Given the description of an element on the screen output the (x, y) to click on. 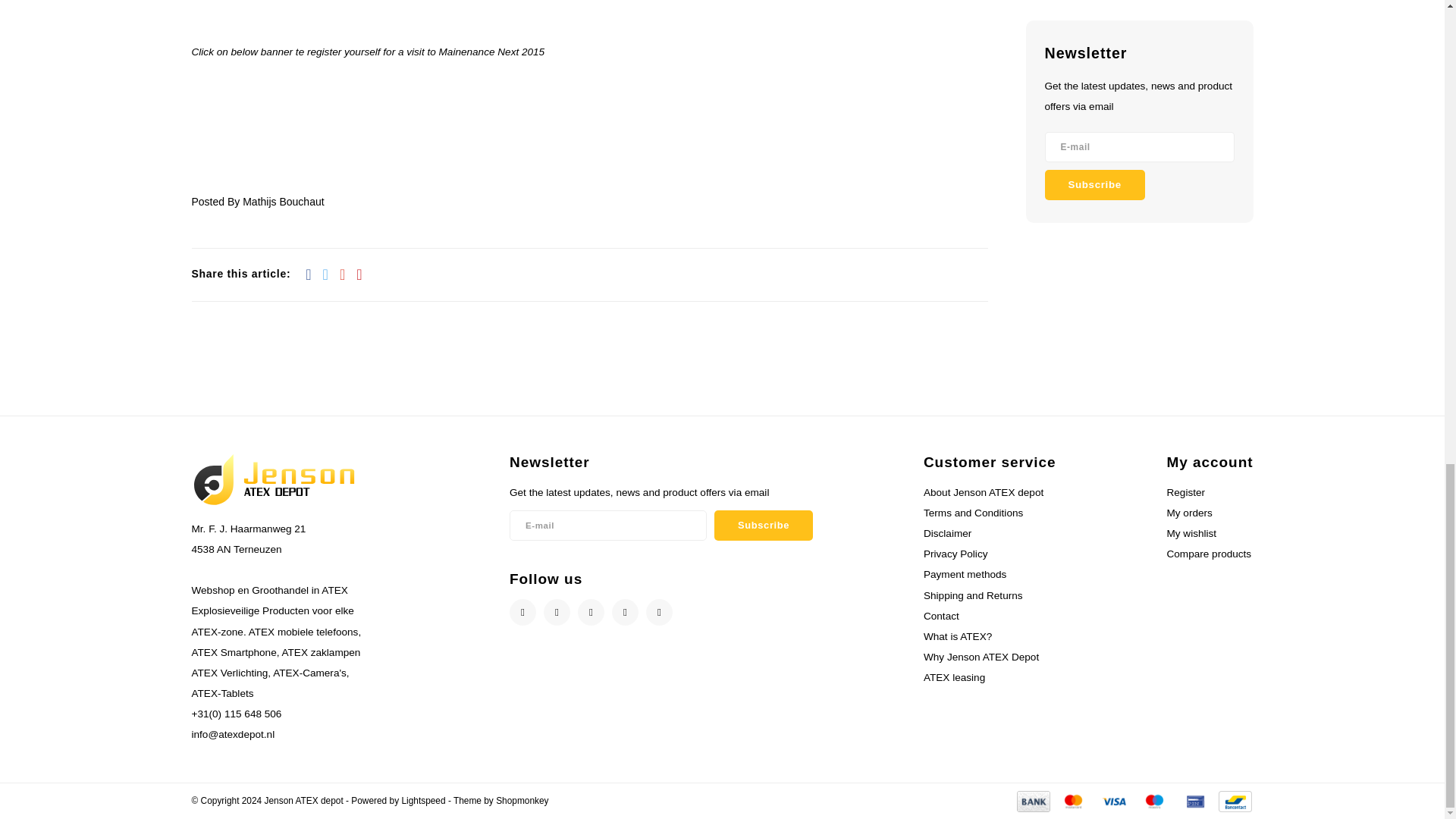
Register (1185, 491)
Payment methods (1072, 800)
Payment methods (1032, 800)
Instagram Jenson ATEX depot (591, 611)
My wishlist (1190, 532)
Subscribe (1094, 184)
Lightspeed (423, 800)
Subscribe (763, 525)
My orders (1188, 512)
